Given the description of an element on the screen output the (x, y) to click on. 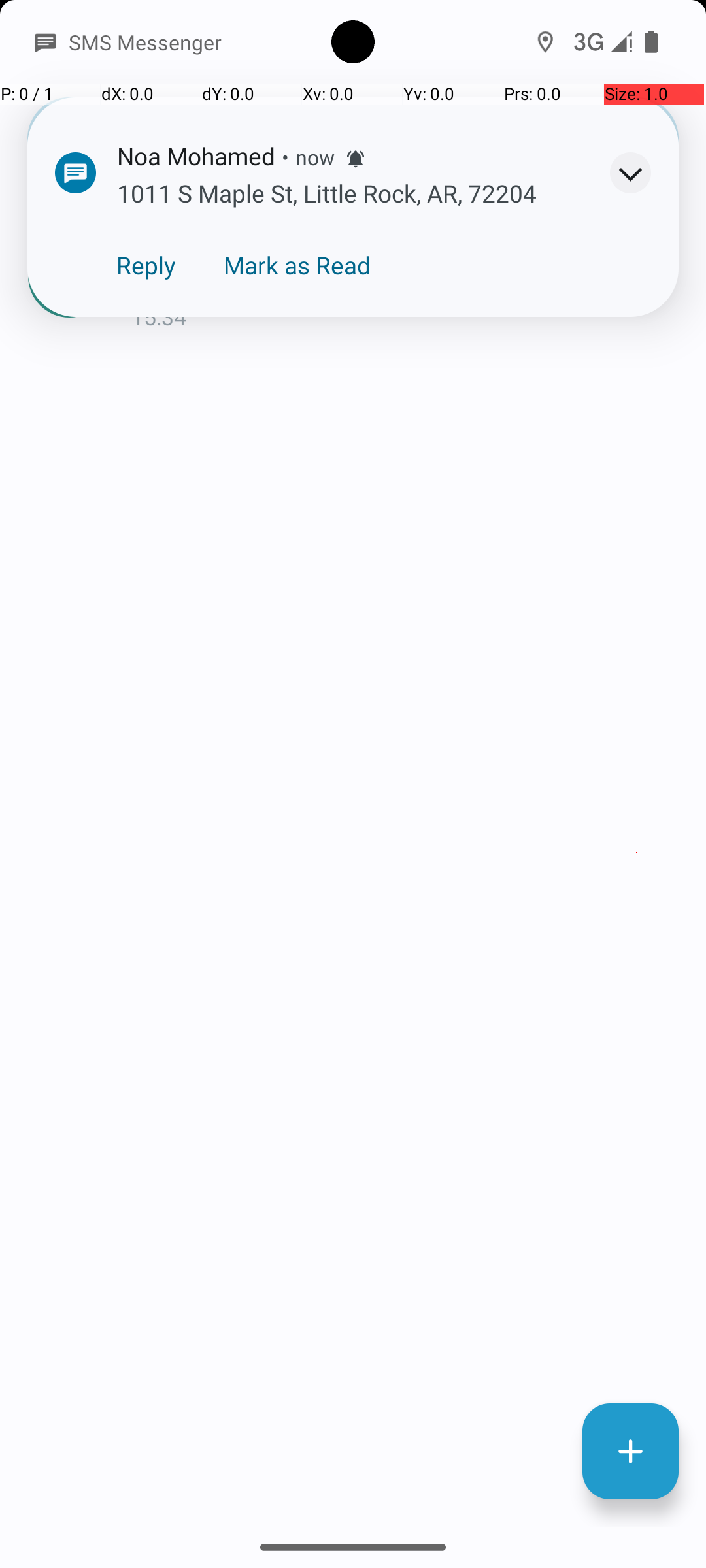
Noa Mohamed Element type: android.widget.TextView (408, 242)
1011 S Maple St, Little Rock, AR, 72204 Element type: android.widget.TextView (408, 281)
Off Element type: android.widget.Switch (518, 48)
Return to Paradise by Thiago is playing from Retro Music Element type: android.view.ViewGroup (352, 247)
This phone Element type: android.widget.LinearLayout (584, 130)
Return to Paradise Element type: android.widget.TextView (166, 242)
Thiago Element type: android.widget.TextView (91, 278)
Pause Element type: android.widget.ImageButton (609, 253)
Previous track Element type: android.widget.ImageButton (68, 363)
00:00 of 03:17 Element type: android.widget.SeekBar (270, 363)
Next track Element type: android.widget.ImageButton (472, 363)
Cycle repeat mode Element type: android.widget.ImageButton (554, 363)
Toggle shuffle mode Element type: android.widget.ImageButton (637, 363)
Media device Element type: android.widget.LinearLayout (571, 137)
